Given the description of an element on the screen output the (x, y) to click on. 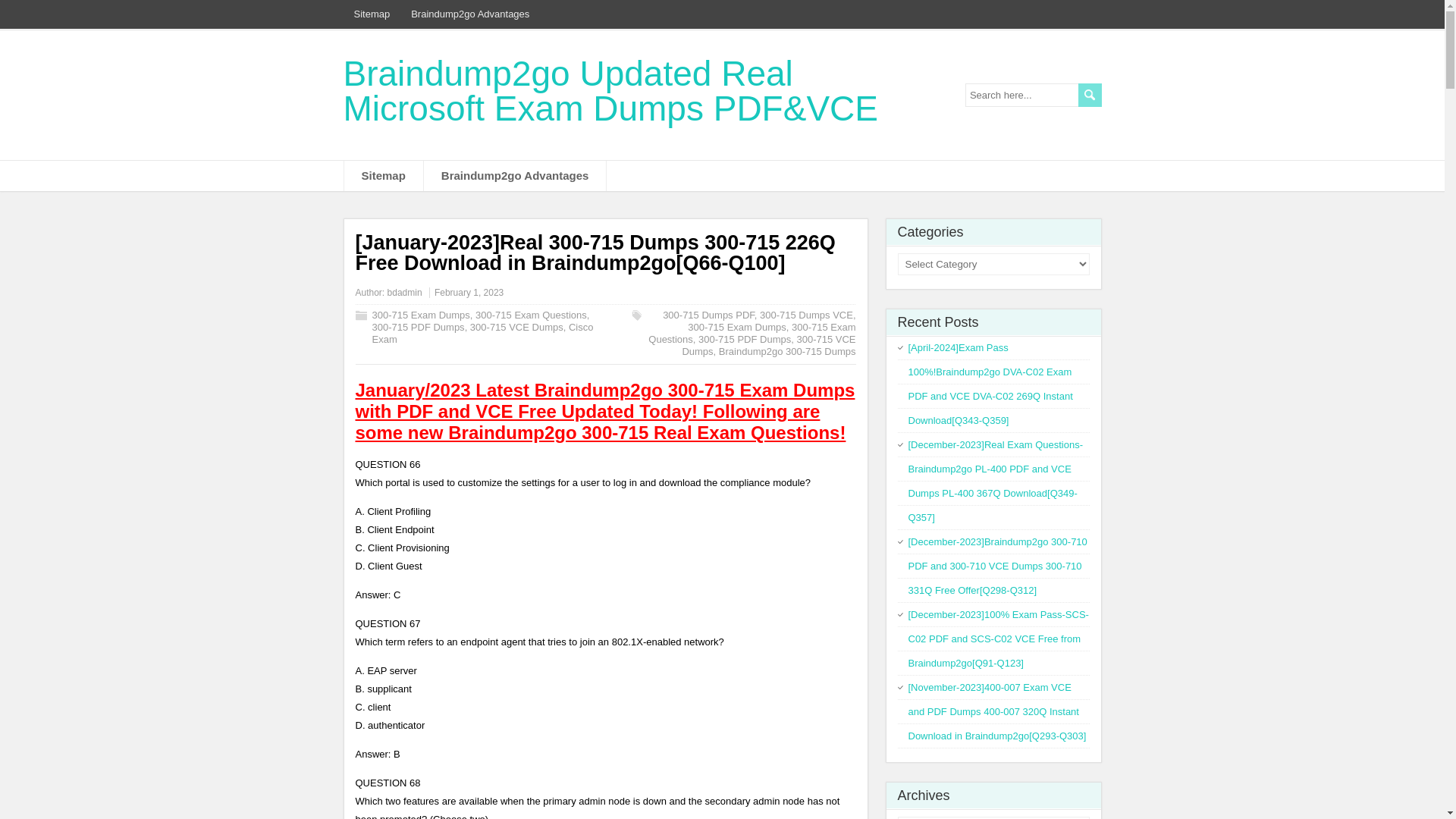
Sitemap (383, 175)
Braindump2go 300-715 Dumps (787, 351)
Braindump2go Advantages (514, 175)
300-715 Exam Questions (751, 332)
Posts by bdadmin (404, 292)
300-715 Exam Questions (531, 315)
Braindump2go Advantages (470, 14)
Sitemap (371, 14)
300-715 Exam Dumps (736, 326)
300-715 PDF Dumps (744, 338)
